Given the description of an element on the screen output the (x, y) to click on. 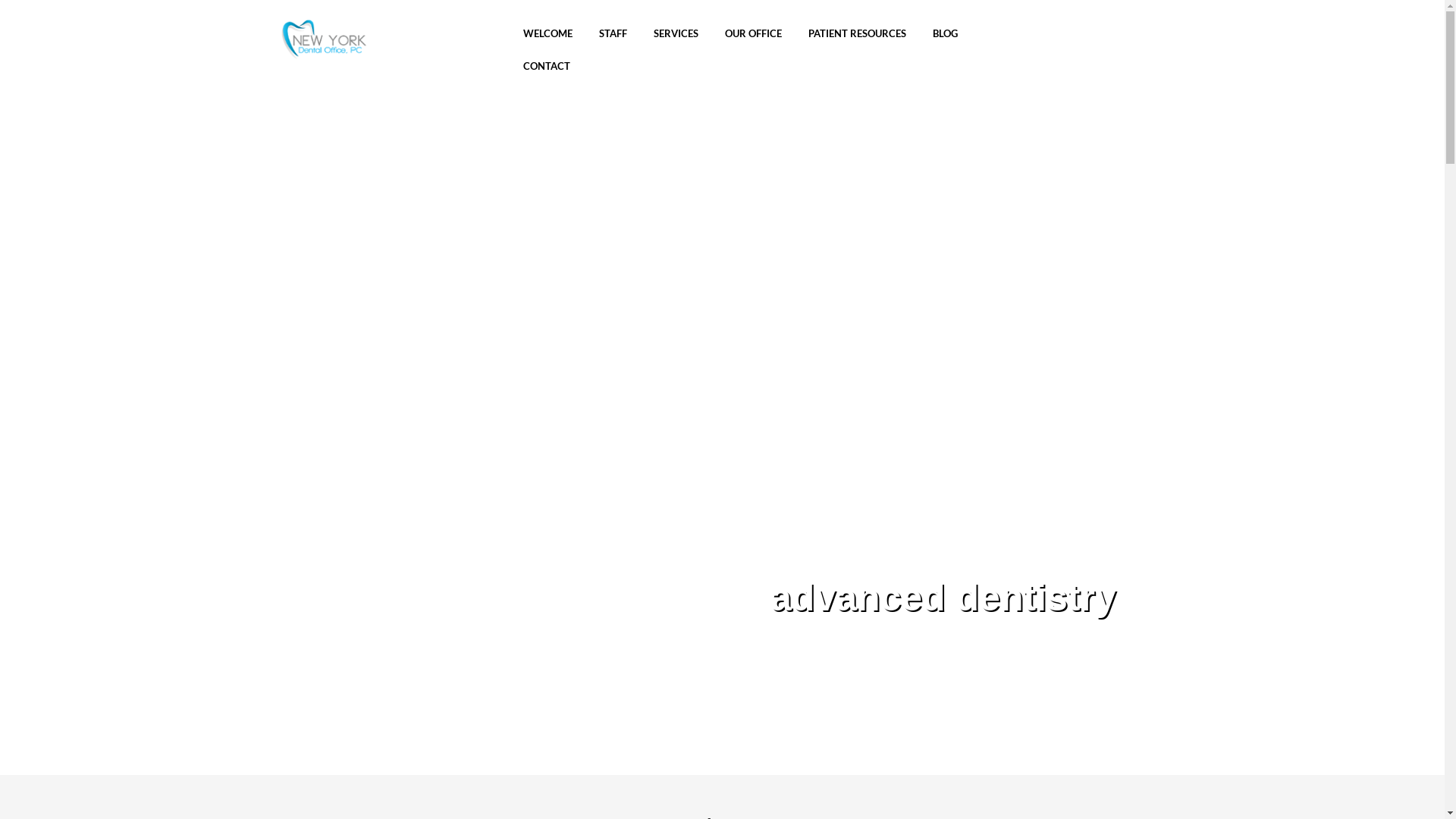
WELCOME Element type: text (547, 34)
PATIENT RESOURCES Element type: text (857, 34)
SERVICES Element type: text (675, 34)
OUR OFFICE Element type: text (753, 34)
STAFF Element type: text (612, 34)
BLOG Element type: text (944, 34)
CONTACT Element type: text (546, 67)
